Given the description of an element on the screen output the (x, y) to click on. 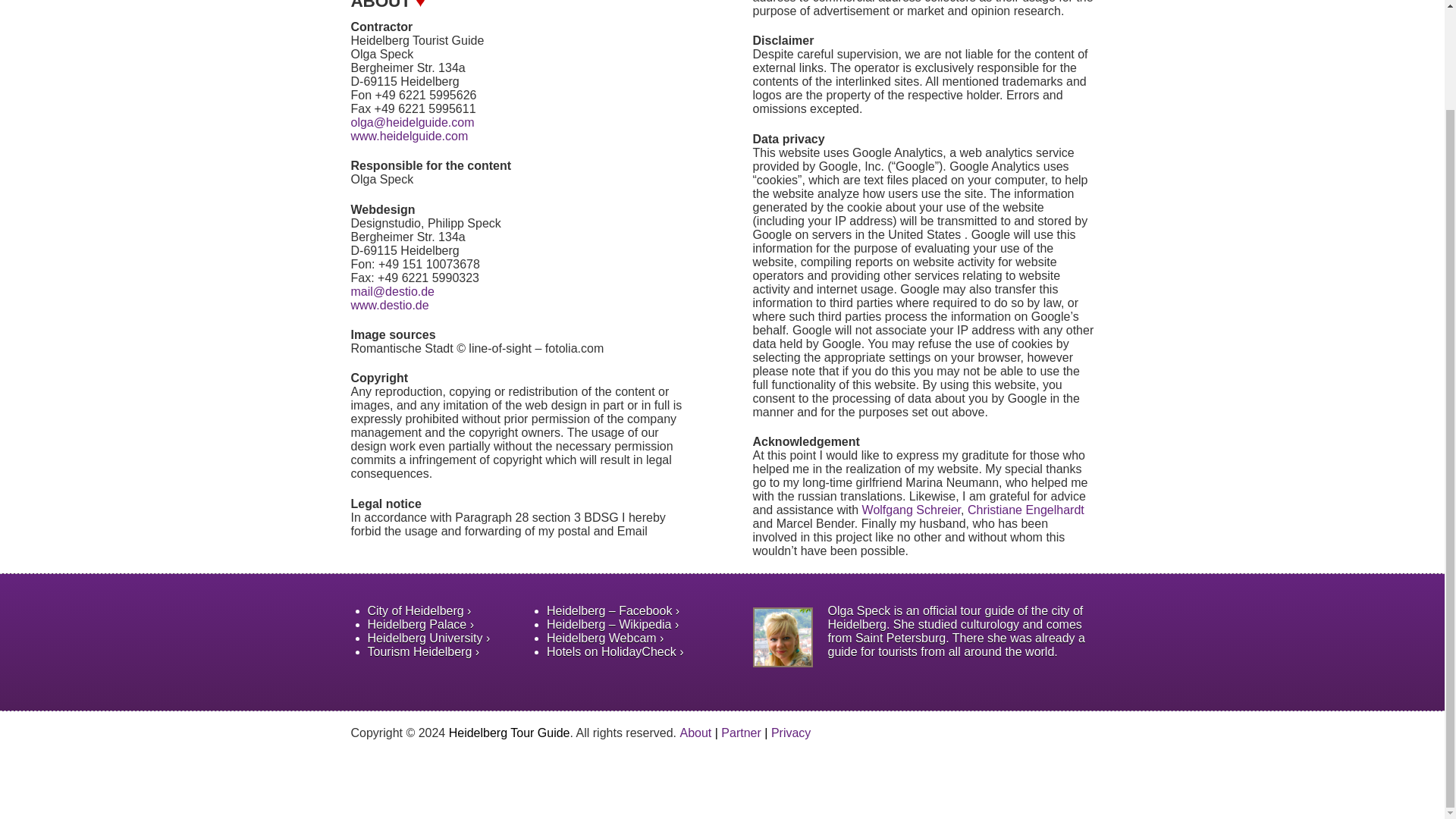
www.destio.de (389, 305)
Wolfgang Schreier (910, 509)
Tourism Heidelberg (422, 651)
Heidelberg Palace (420, 624)
Designstudio, Philipp Speck (389, 305)
Hotels on HolidayCheck (615, 651)
Christiane Engelhardt (1026, 509)
Heidelberg Webcam (605, 637)
Tourism Heidelberg (422, 651)
Heidelberg Webcam (605, 637)
City of Heidelberg (418, 610)
Heidelberg Palace (420, 624)
Wolfgang Schreier - Projektmanager und Teamleader (910, 509)
About (695, 732)
Heidelberg Tourist Guide (408, 135)
